Given the description of an element on the screen output the (x, y) to click on. 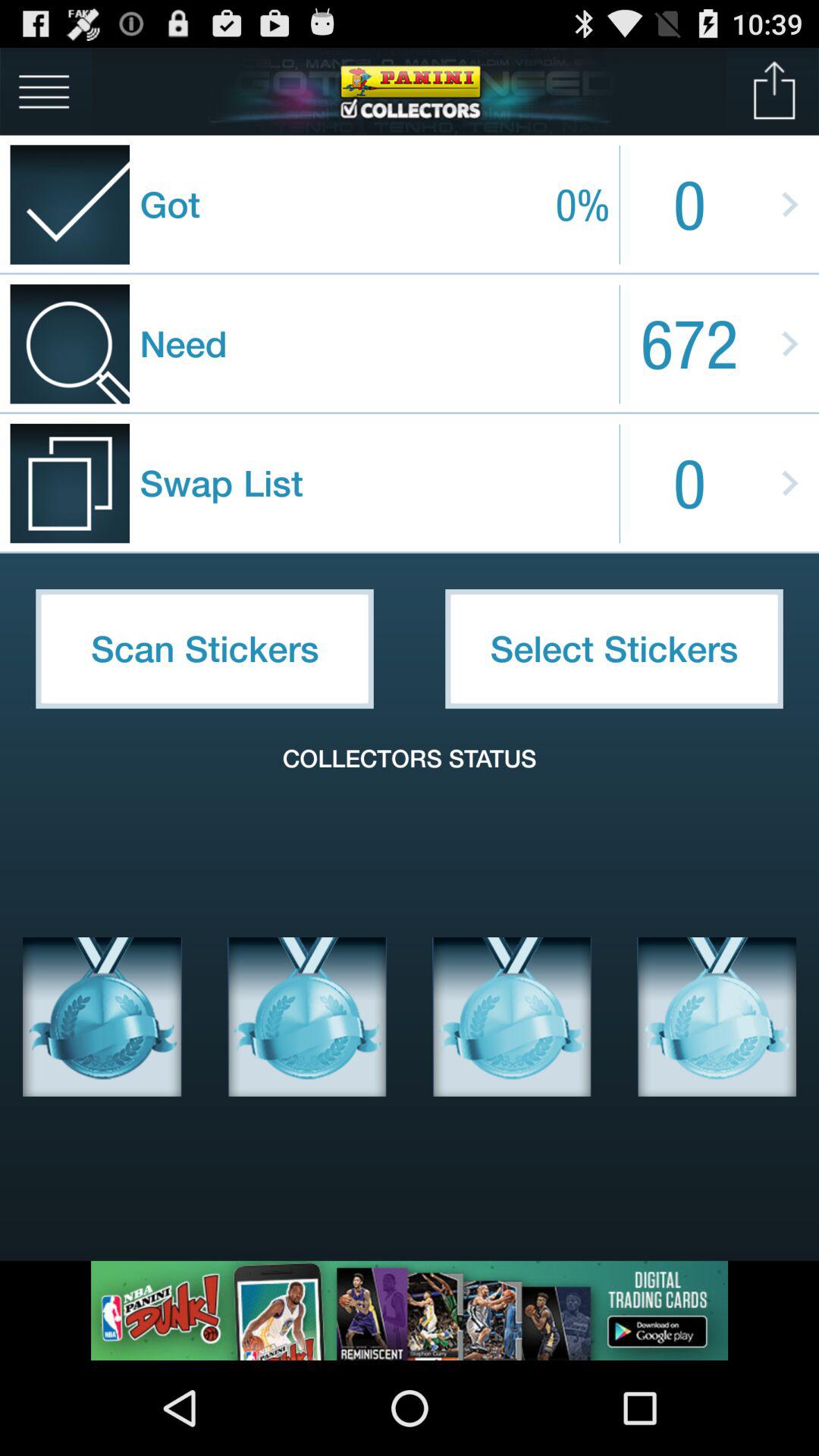
select the item above the 0 icon (774, 91)
